Given the description of an element on the screen output the (x, y) to click on. 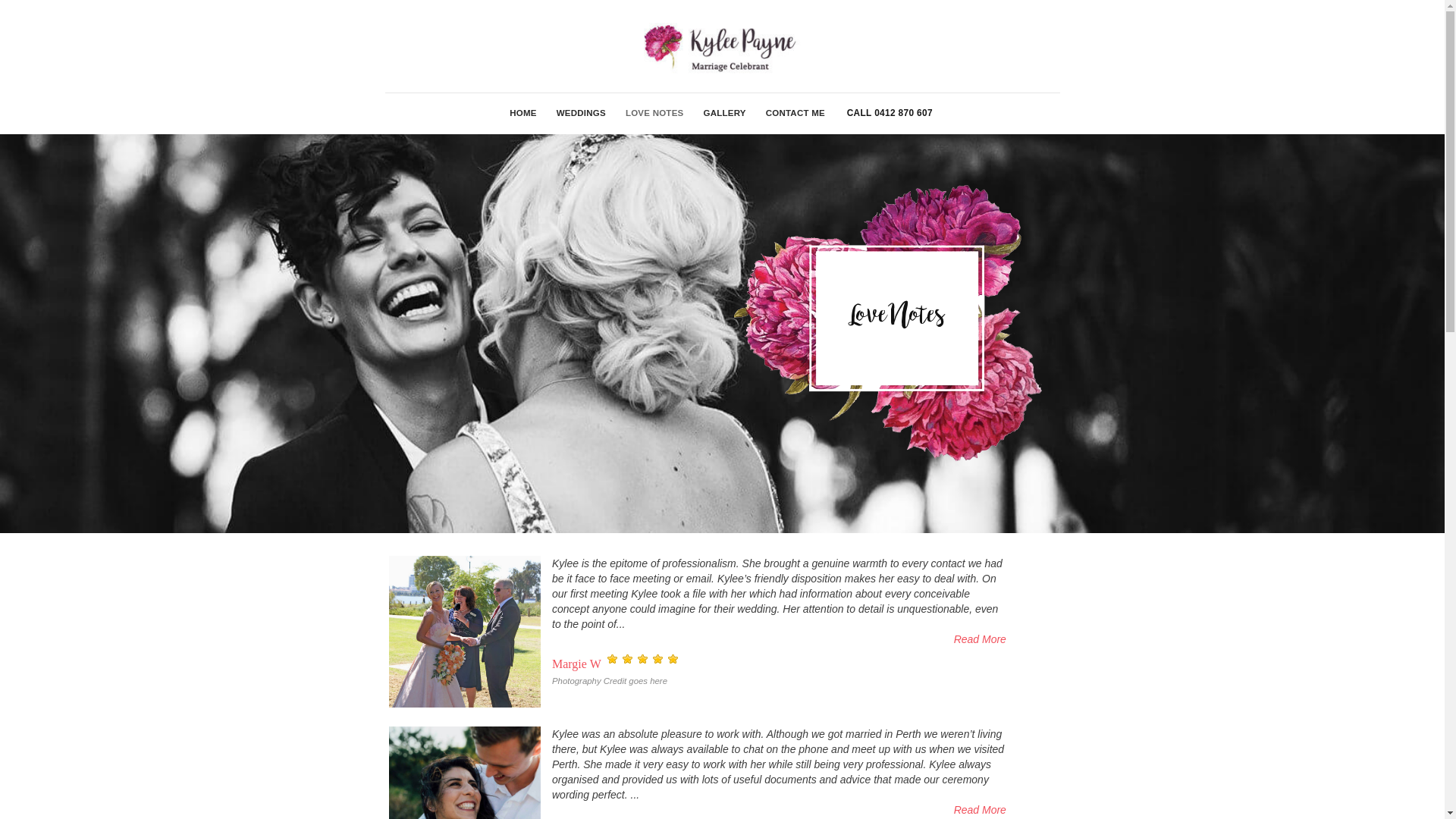
CONTACT ME Element type: text (795, 113)
WEDDINGS Element type: text (580, 113)
Read More Element type: text (779, 809)
Kylee Payne Marriage Celebrant -  Element type: hover (721, 46)
Skip to content Element type: text (0, 0)
Margie W Element type: hover (464, 631)
LOVE NOTES Element type: text (654, 113)
Read More Element type: text (779, 638)
CALL 0412 870 607 Element type: text (889, 112)
GALLERY Element type: text (723, 113)
HOME Element type: text (522, 113)
